Given the description of an element on the screen output the (x, y) to click on. 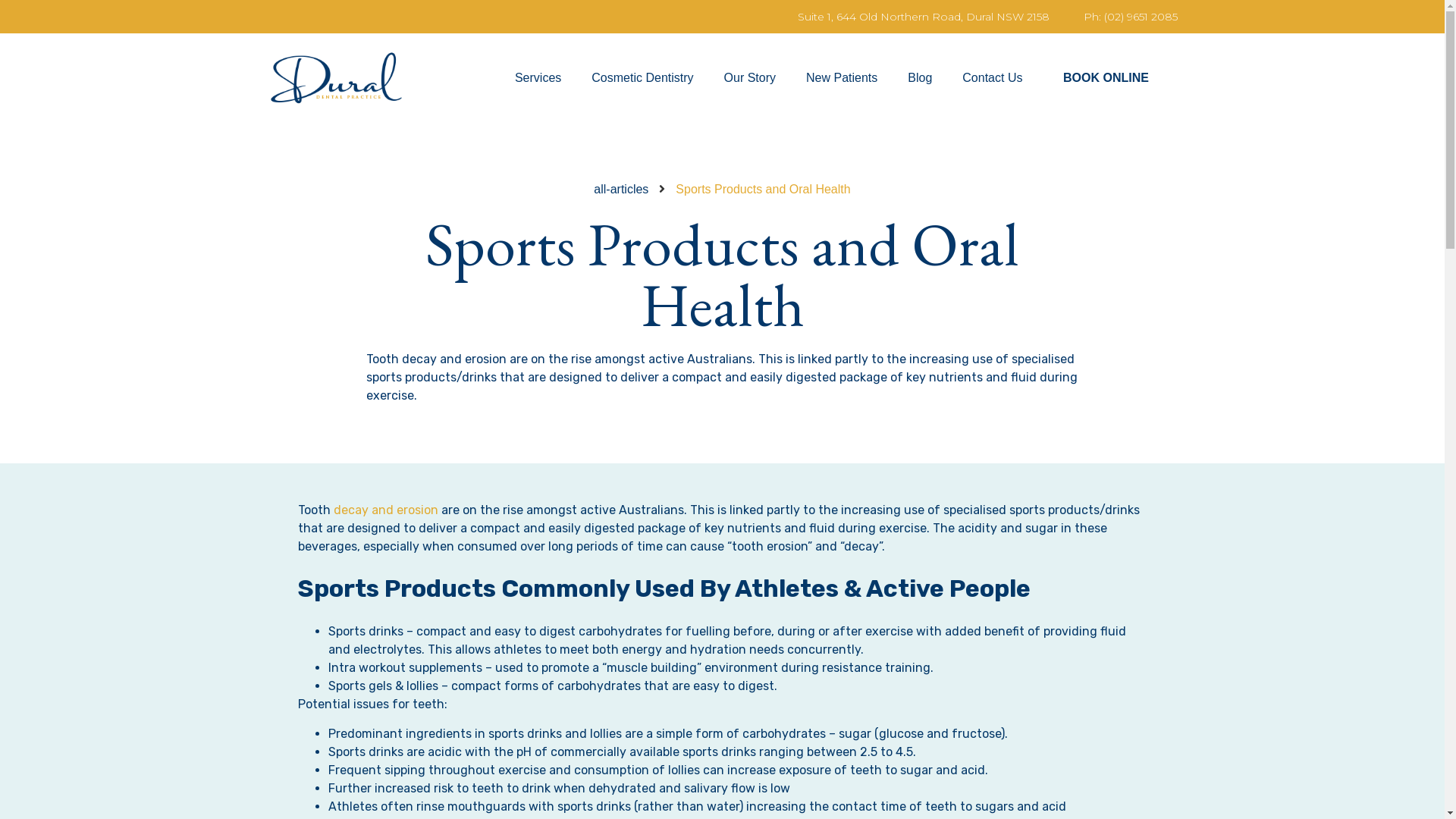
New Patients Element type: text (841, 77)
Ph: (02) 9651 2085 Element type: text (1124, 17)
Contact Us Element type: text (992, 77)
decay and erosion Element type: text (385, 509)
Our Story Element type: text (749, 77)
BOOK ONLINE Element type: text (1106, 77)
all-articles Element type: text (620, 189)
Blog Element type: text (919, 77)
Services Element type: text (537, 77)
Cosmetic Dentistry Element type: text (642, 77)
